Given the description of an element on the screen output the (x, y) to click on. 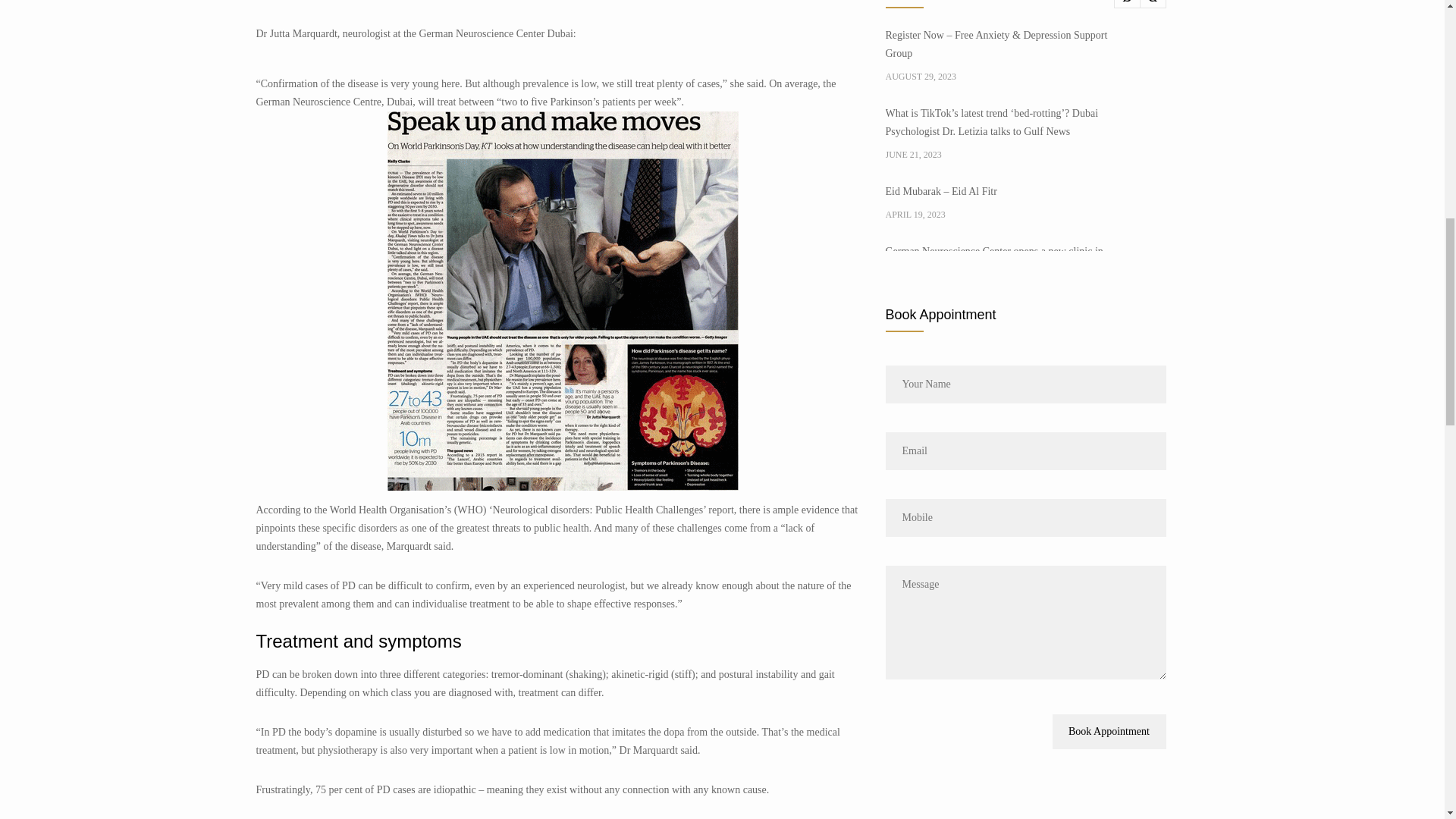
Book Appointment (1109, 731)
June 21, 2023 (1004, 154)
parkinson-dubai-uae (562, 300)
August 29, 2023 (1004, 76)
Recent Posts (1025, 4)
